Given the description of an element on the screen output the (x, y) to click on. 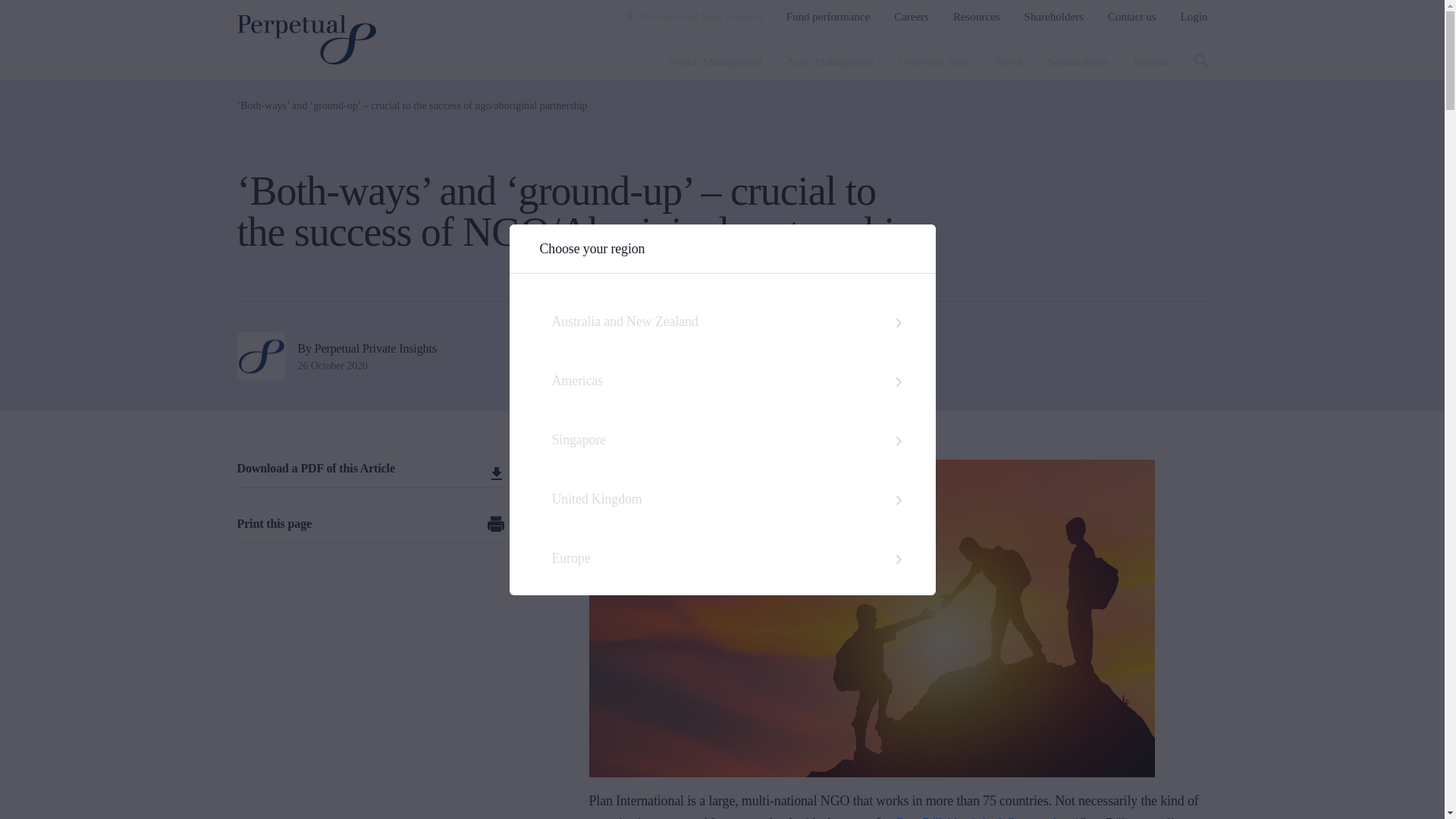
Sustainability (1077, 60)
Corporate Trust (933, 60)
Wealth Management (714, 60)
About (1008, 60)
Asset Management (829, 60)
Insights (1152, 60)
